Given the description of an element on the screen output the (x, y) to click on. 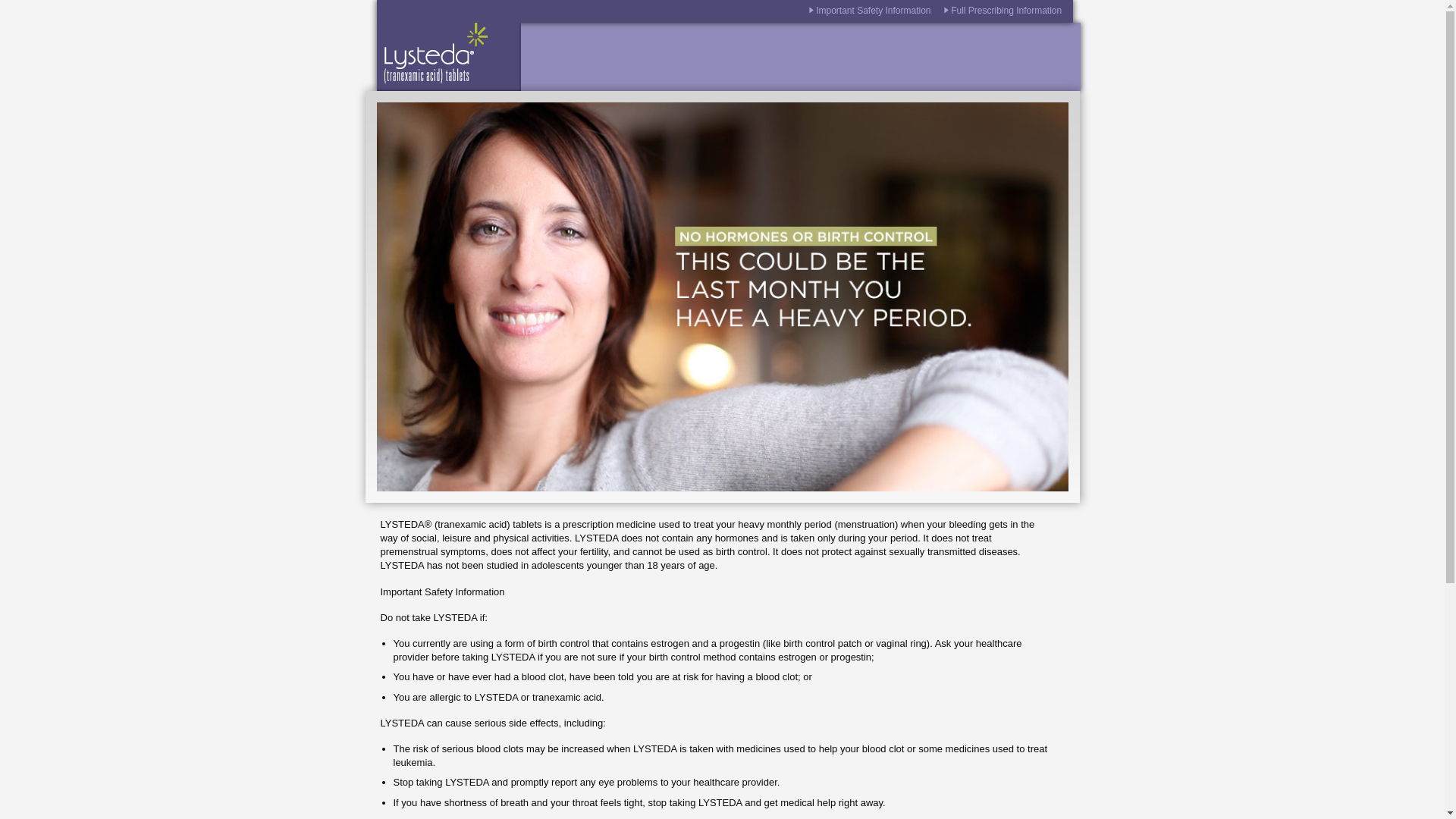
Important Safety Information (872, 9)
Full Prescribing Information (1005, 9)
